Given the description of an element on the screen output the (x, y) to click on. 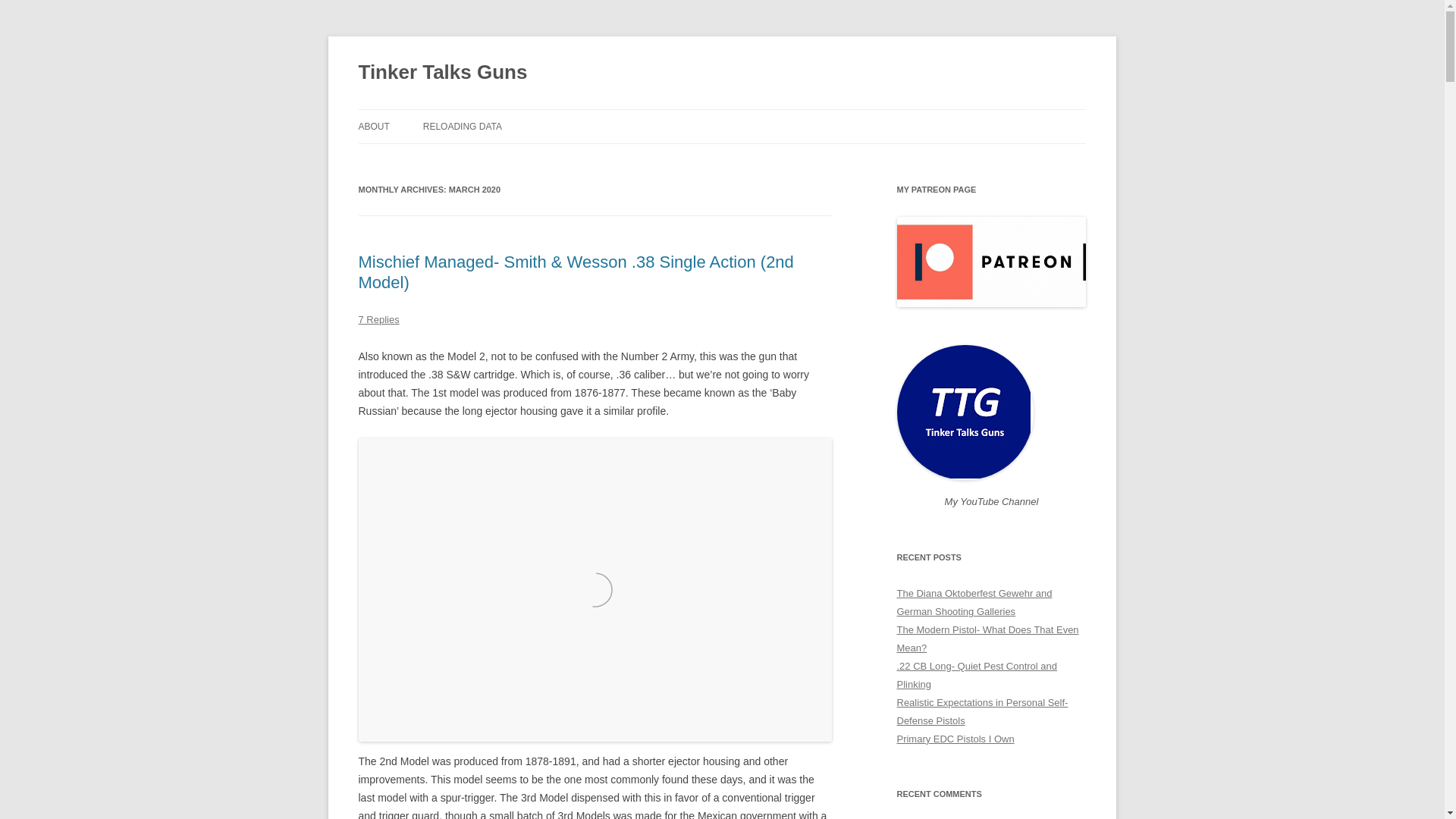
Realistic Expectations in Personal Self-Defense Pistols (981, 711)
ABOUT (373, 126)
Tinker Talks Guns (442, 72)
The Diana Oktoberfest Gewehr and German Shooting Galleries (973, 602)
Tinker Talks Guns (442, 72)
.22 CB Long- Quiet Pest Control and Plinking (976, 675)
Primary EDC Pistols I Own (954, 738)
RELOADING DATA (462, 126)
7 Replies (378, 319)
The Modern Pistol- What Does That Even Mean? (987, 638)
